Given the description of an element on the screen output the (x, y) to click on. 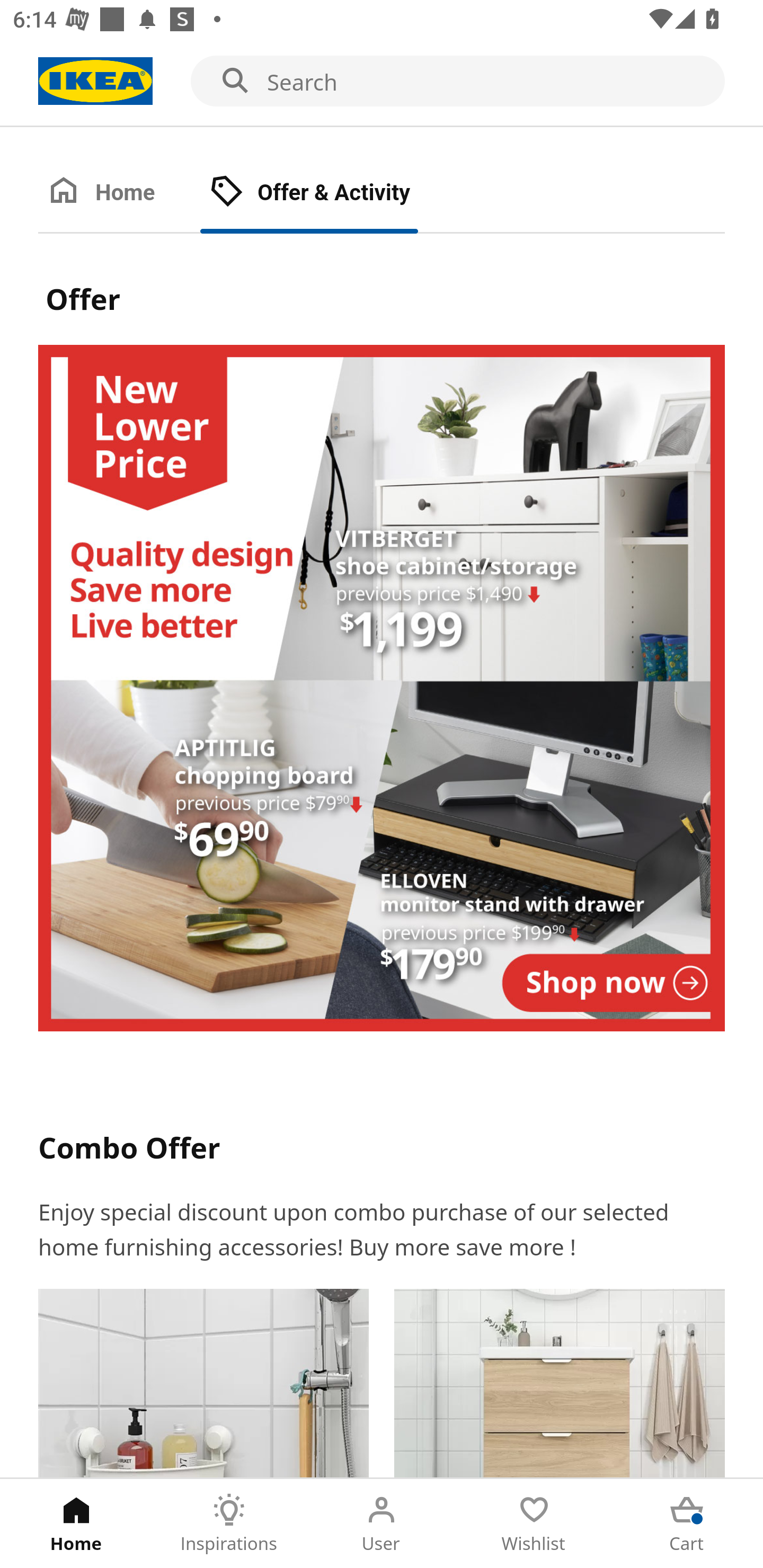
Search (381, 81)
Home
Tab 1 of 2 (118, 192)
Offer & Activity
Tab 2 of 2 (327, 192)
Home
Tab 1 of 5 (76, 1522)
Inspirations
Tab 2 of 5 (228, 1522)
User
Tab 3 of 5 (381, 1522)
Wishlist
Tab 4 of 5 (533, 1522)
Cart
Tab 5 of 5 (686, 1522)
